Given the description of an element on the screen output the (x, y) to click on. 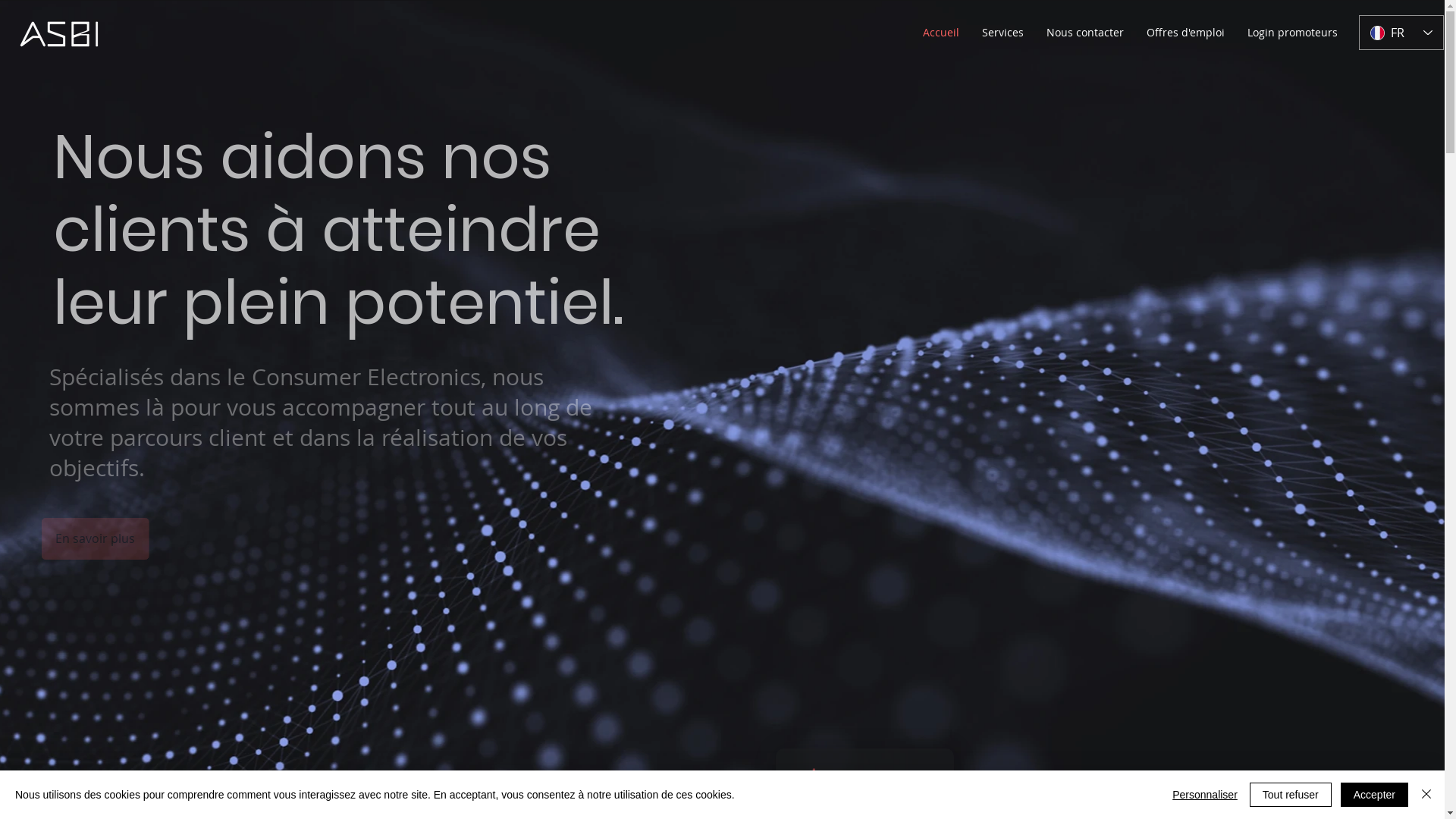
Services Element type: text (1002, 32)
Tout refuser Element type: text (1290, 794)
Login promoteurs Element type: text (1292, 32)
En savoir plus Element type: text (69, 538)
Accueil Element type: text (940, 32)
Nous contacter Element type: text (1085, 32)
Offres d'emploi Element type: text (1185, 32)
Logo ASBI Element type: hover (58, 33)
Accepter Element type: text (1374, 794)
